Given the description of an element on the screen output the (x, y) to click on. 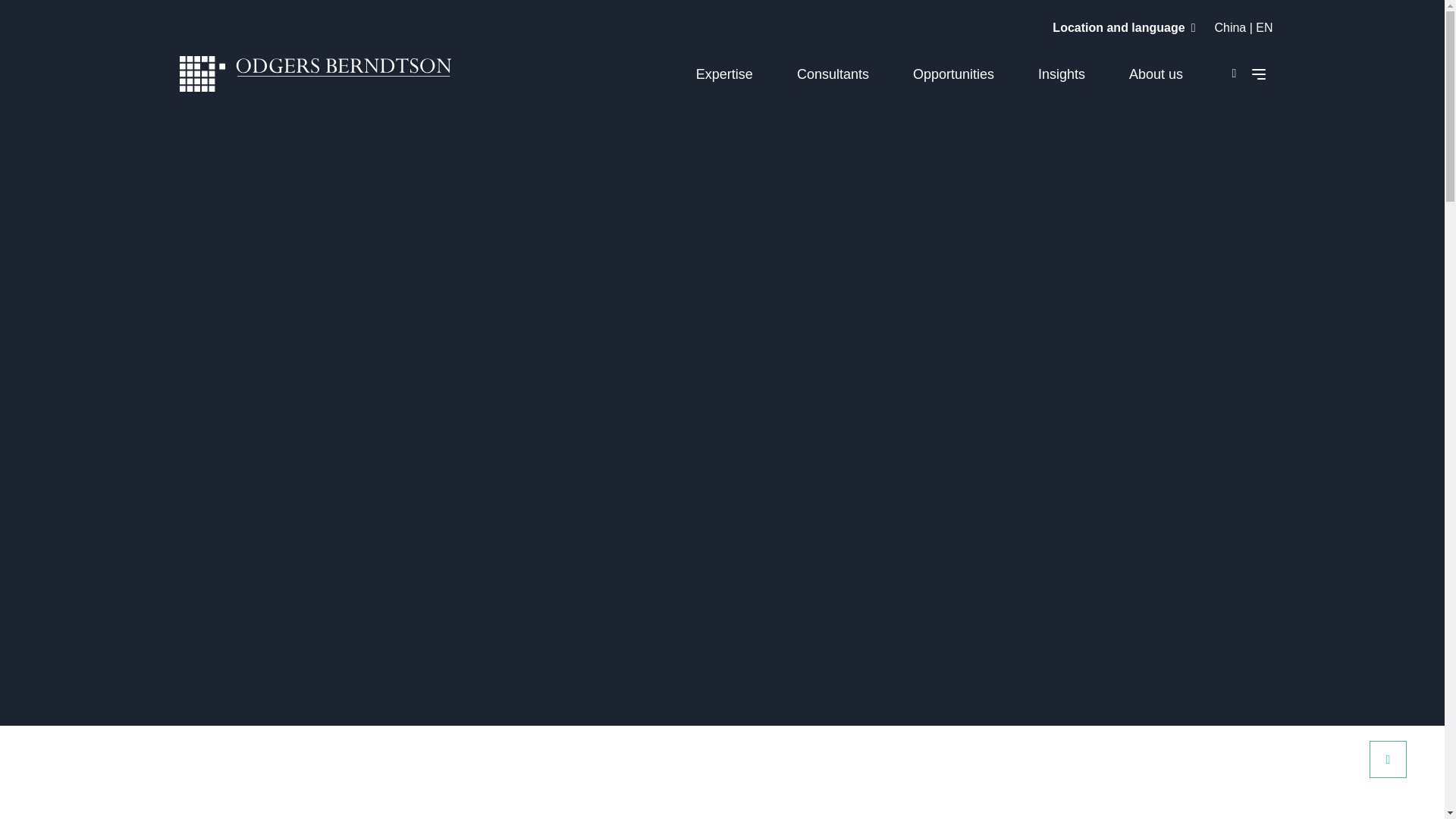
Expertise (724, 74)
Odgers berndtson (314, 75)
Expertise (724, 74)
